Given the description of an element on the screen output the (x, y) to click on. 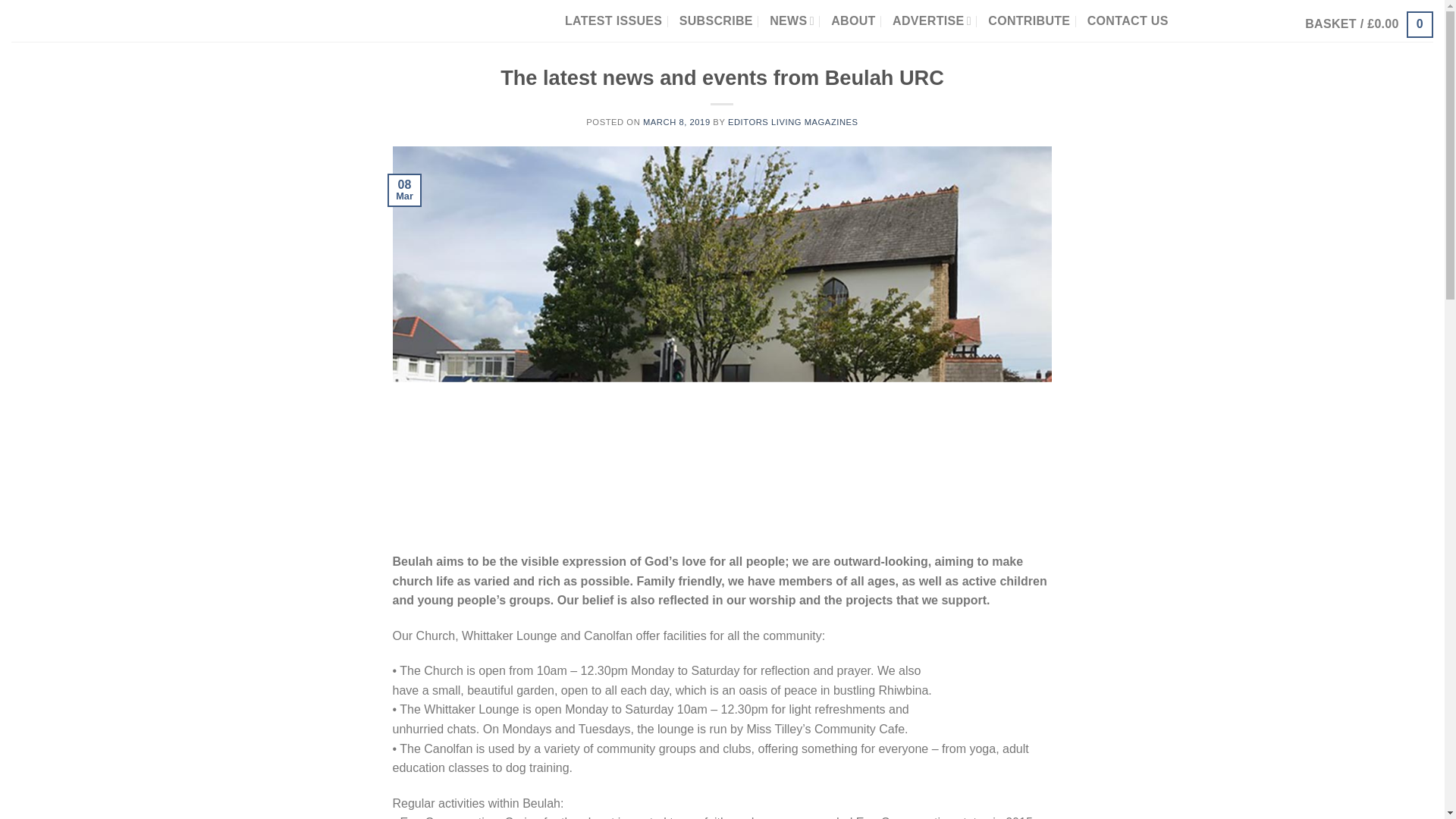
LATEST ISSUES (613, 21)
CONTRIBUTE (1029, 21)
ADVERTISE (931, 20)
NEWS (791, 20)
SUBSCRIBE (715, 21)
ABOUT (853, 21)
EDITORS LIVING MAGAZINES (793, 121)
CONTACT US (1128, 21)
MARCH 8, 2019 (676, 121)
